Given the description of an element on the screen output the (x, y) to click on. 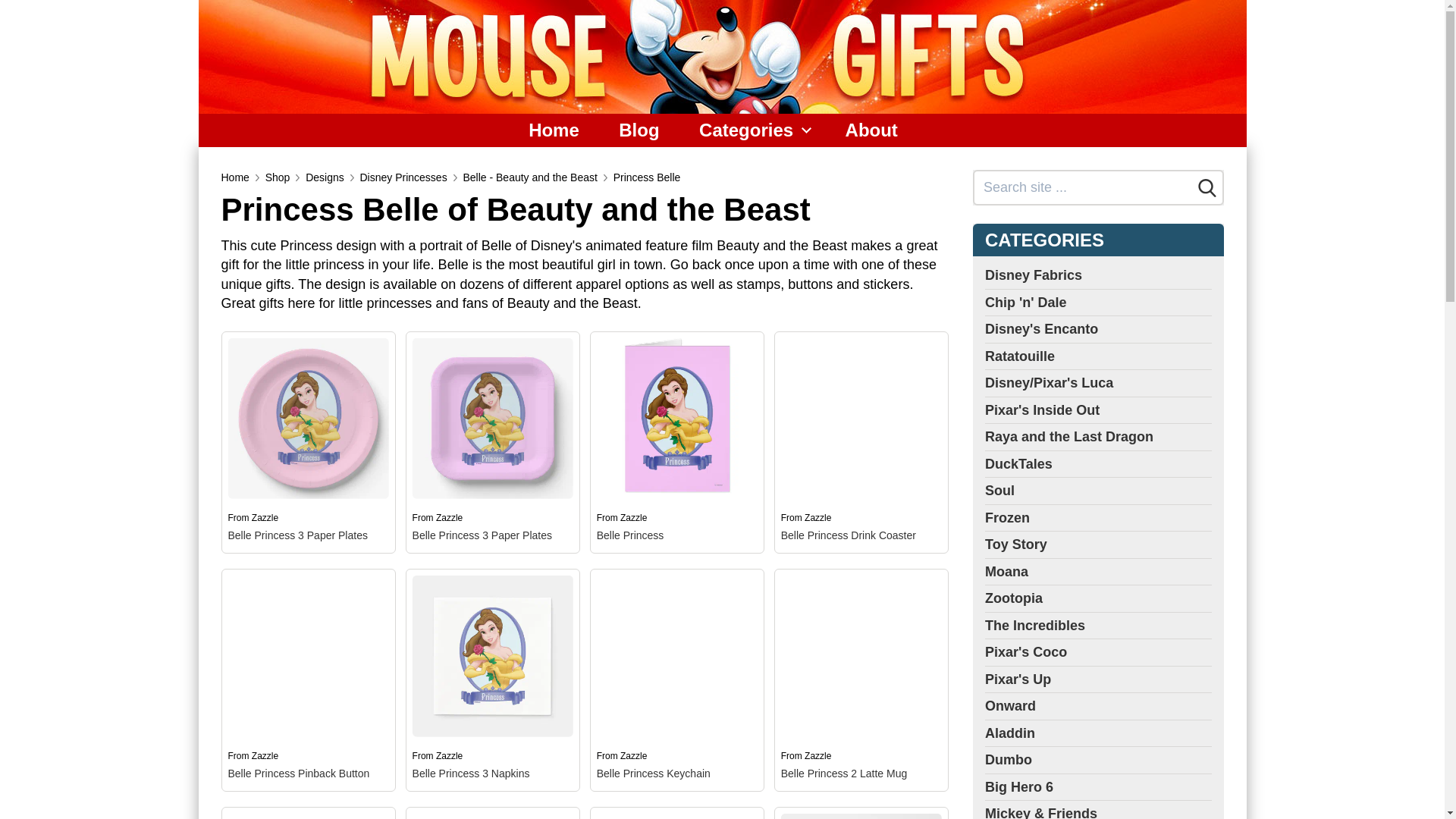
Blog (638, 130)
Home (553, 130)
About (871, 130)
